Given the description of an element on the screen output the (x, y) to click on. 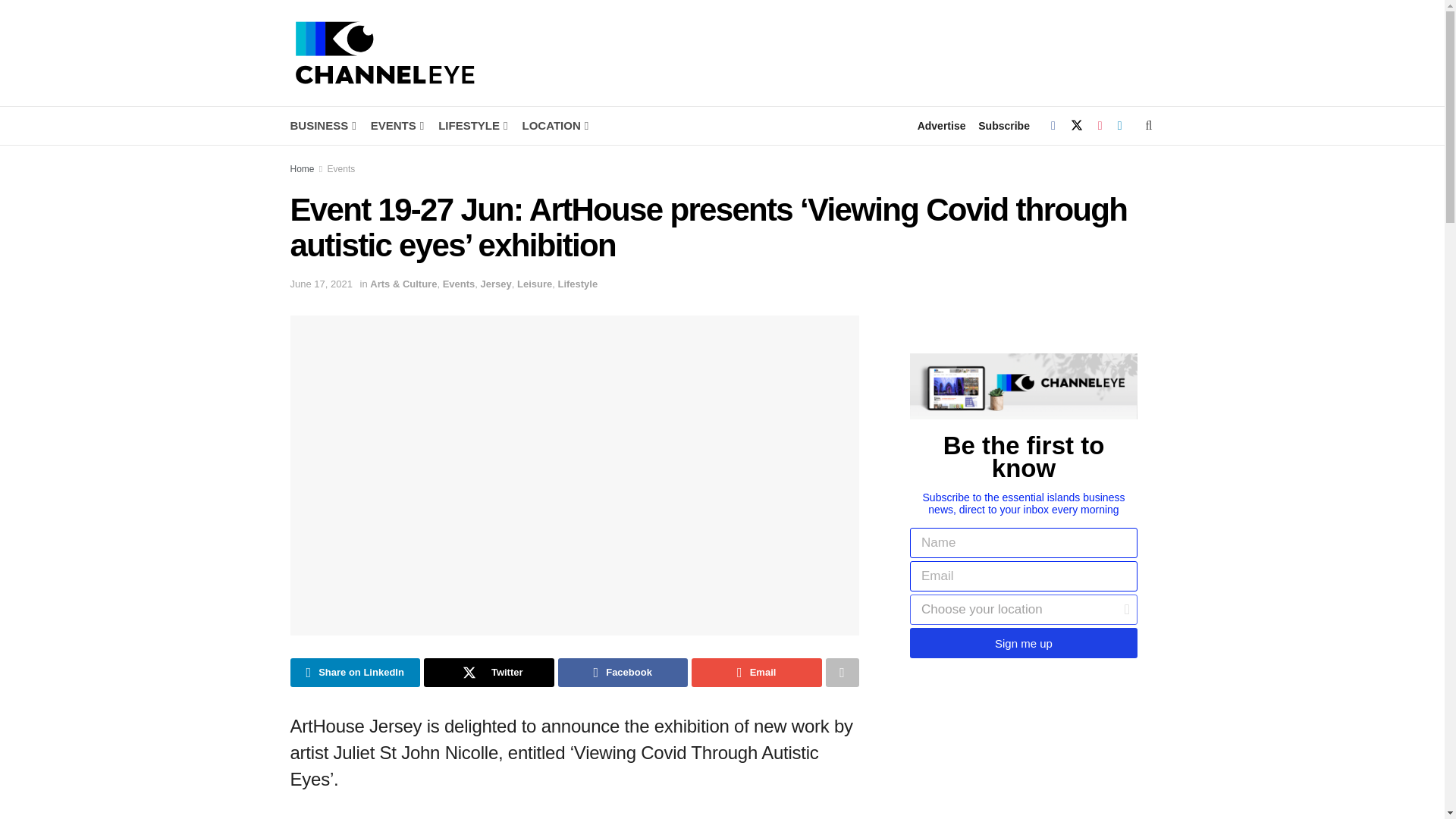
BUSINESS (321, 125)
EVENTS (396, 125)
Advertise (941, 125)
LOCATION (553, 125)
LIFESTYLE (471, 125)
Subscribe (1003, 125)
